Given the description of an element on the screen output the (x, y) to click on. 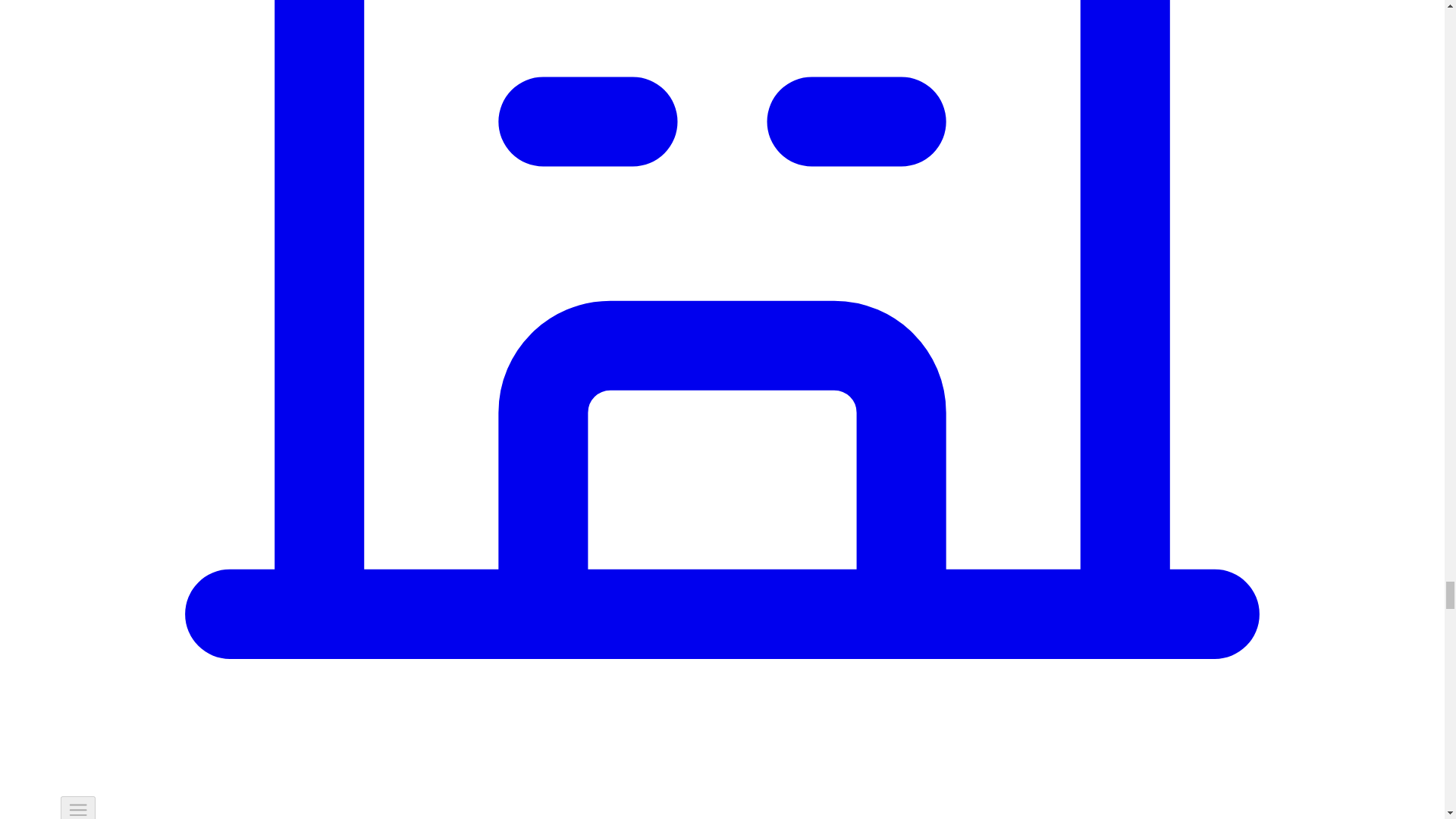
More (78, 807)
